Given the description of an element on the screen output the (x, y) to click on. 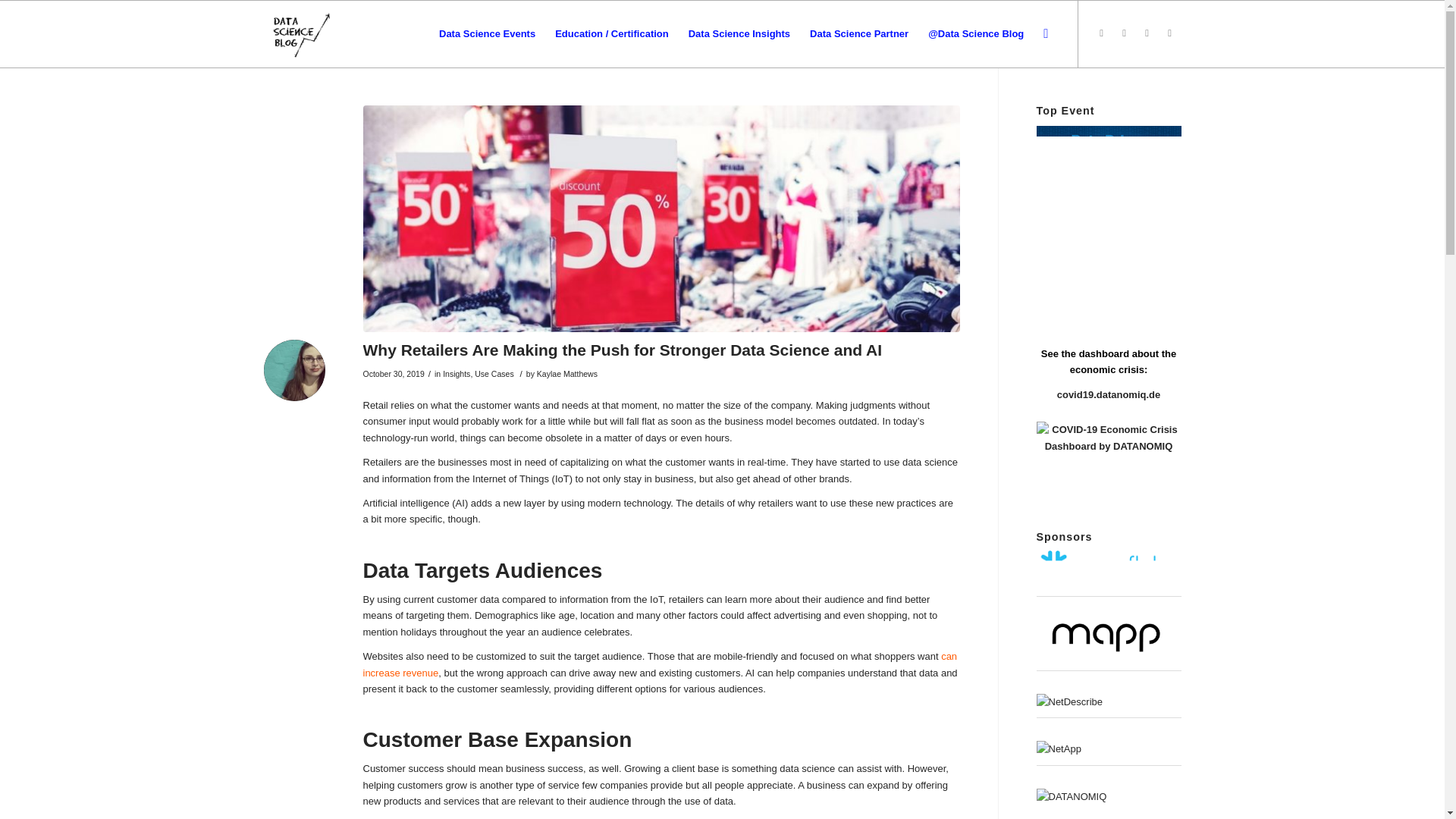
Posts by Kaylae Matthews (566, 373)
Facebook (1124, 33)
Linkedin (1169, 33)
Kaylae Matthews (566, 373)
Data Science Partner (858, 33)
Use Cases (493, 373)
Data Science Events (486, 33)
Insights (456, 373)
Twitter (1101, 33)
Data Science Insights (738, 33)
Xing (1146, 33)
can increase revenue (659, 664)
